Given the description of an element on the screen output the (x, y) to click on. 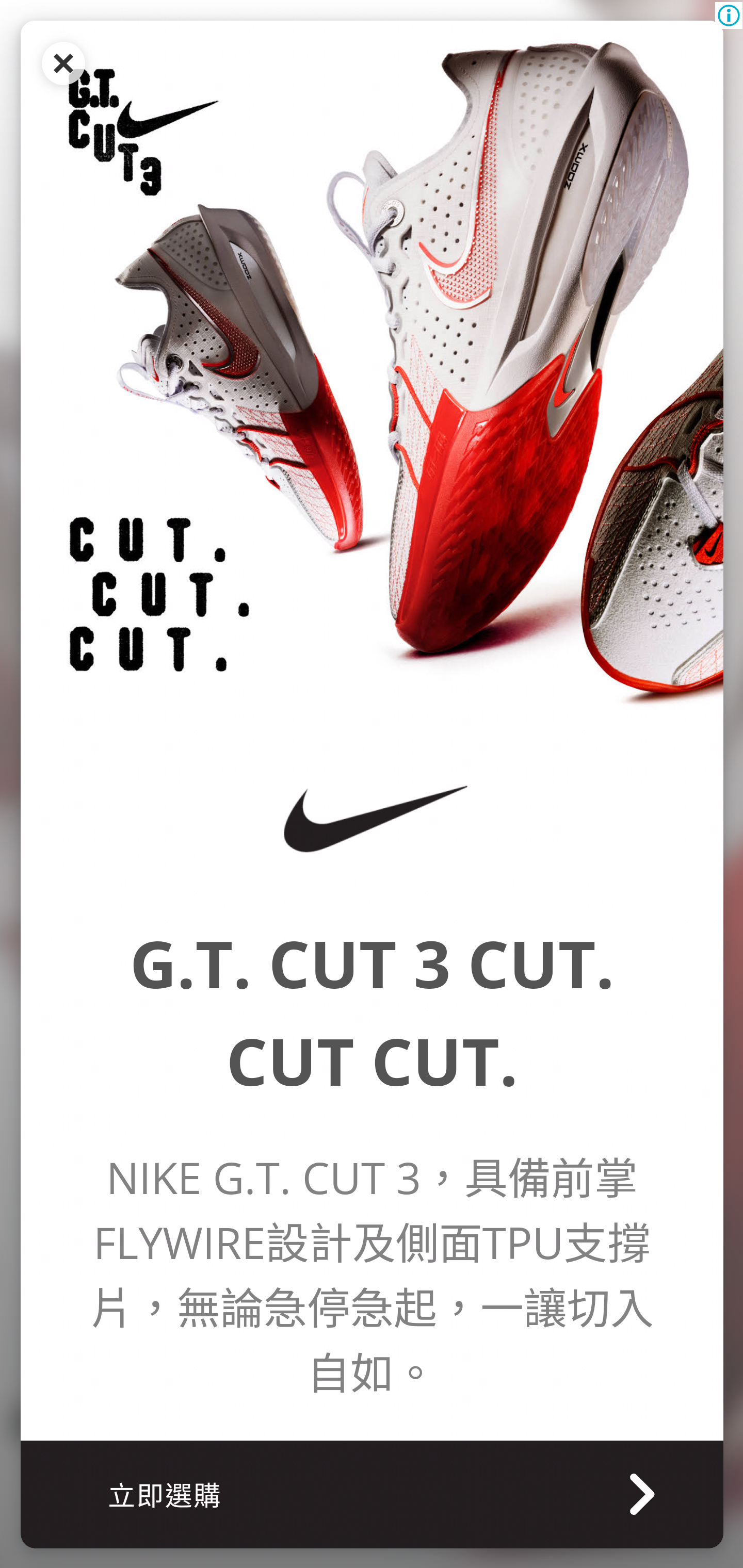
B29162819 (371, 371)
B29162819 (371, 818)
立即選購 (371, 1493)
